Given the description of an element on the screen output the (x, y) to click on. 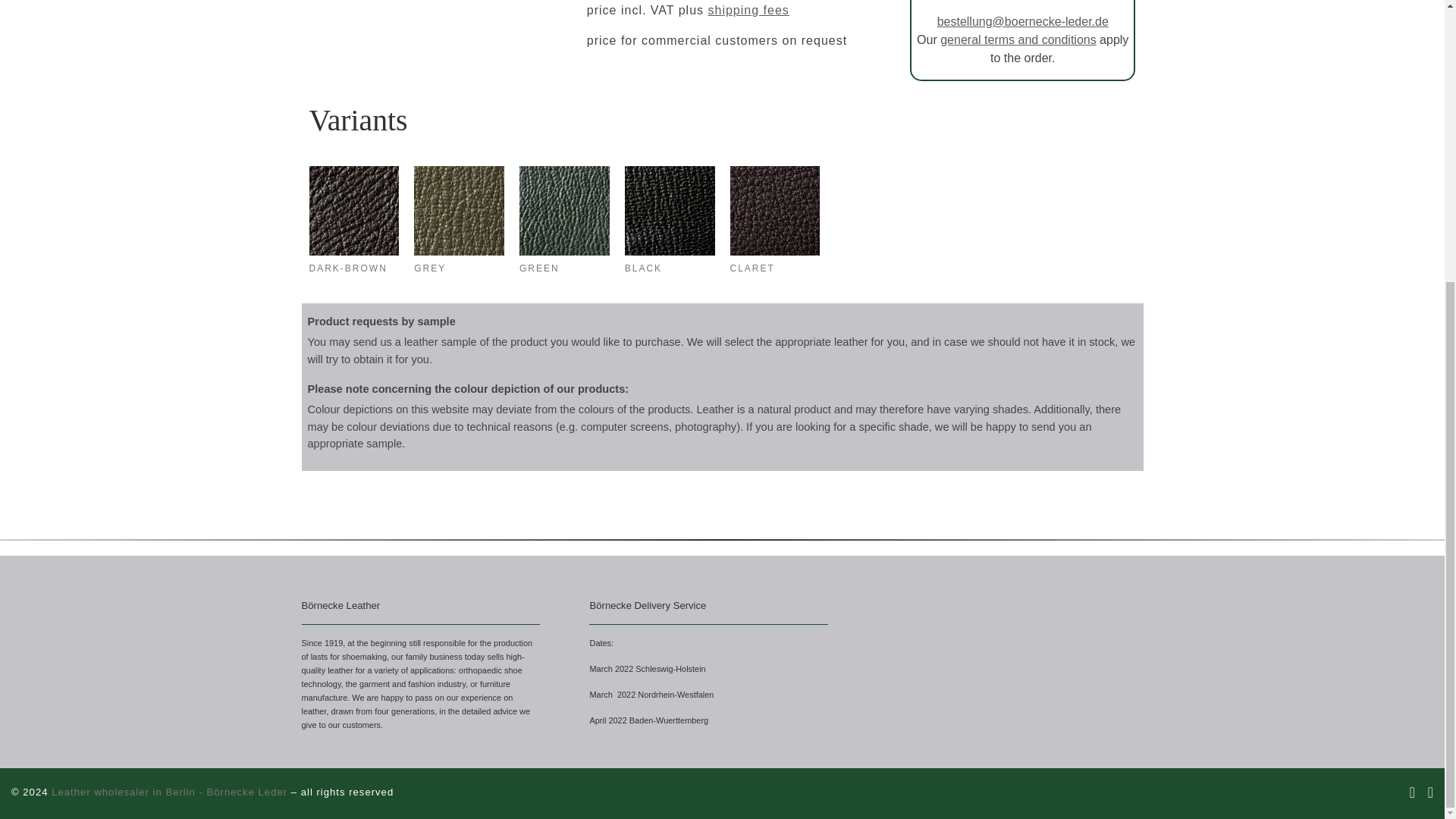
shipping fees (748, 10)
